Given the description of an element on the screen output the (x, y) to click on. 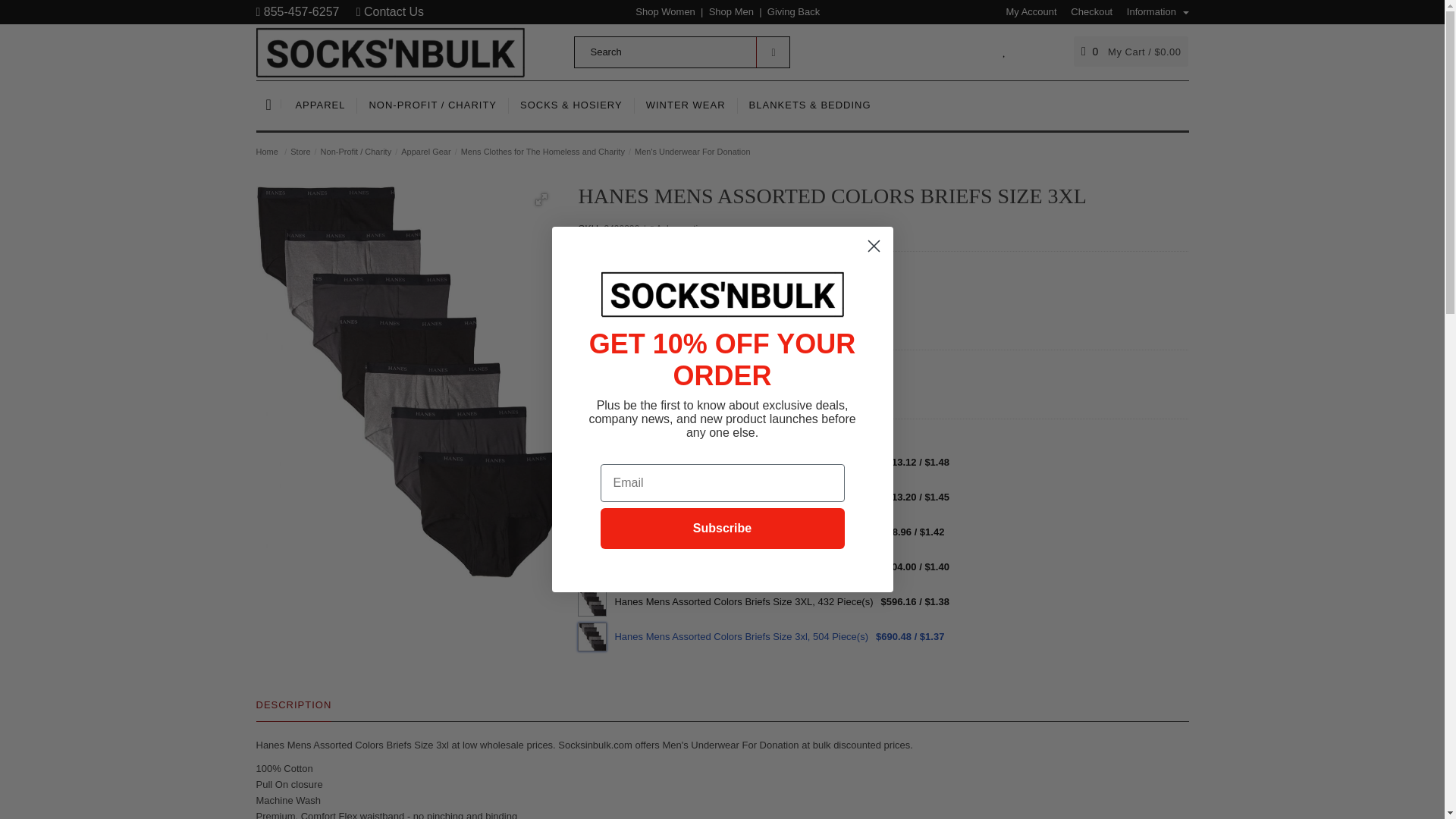
Socksinbulk.com (390, 50)
Checkout (1085, 11)
Shop Men (731, 11)
Shop Women (664, 11)
Socksinbulk.com (390, 51)
My Account (1025, 11)
My Wishlist (1004, 51)
855-457-6257 (297, 11)
Wishlist (731, 388)
Information (1152, 11)
Giving Back (793, 11)
Contact Us (389, 11)
Checkout (1085, 11)
APPAREL (319, 105)
My Account (1025, 11)
